Given the description of an element on the screen output the (x, y) to click on. 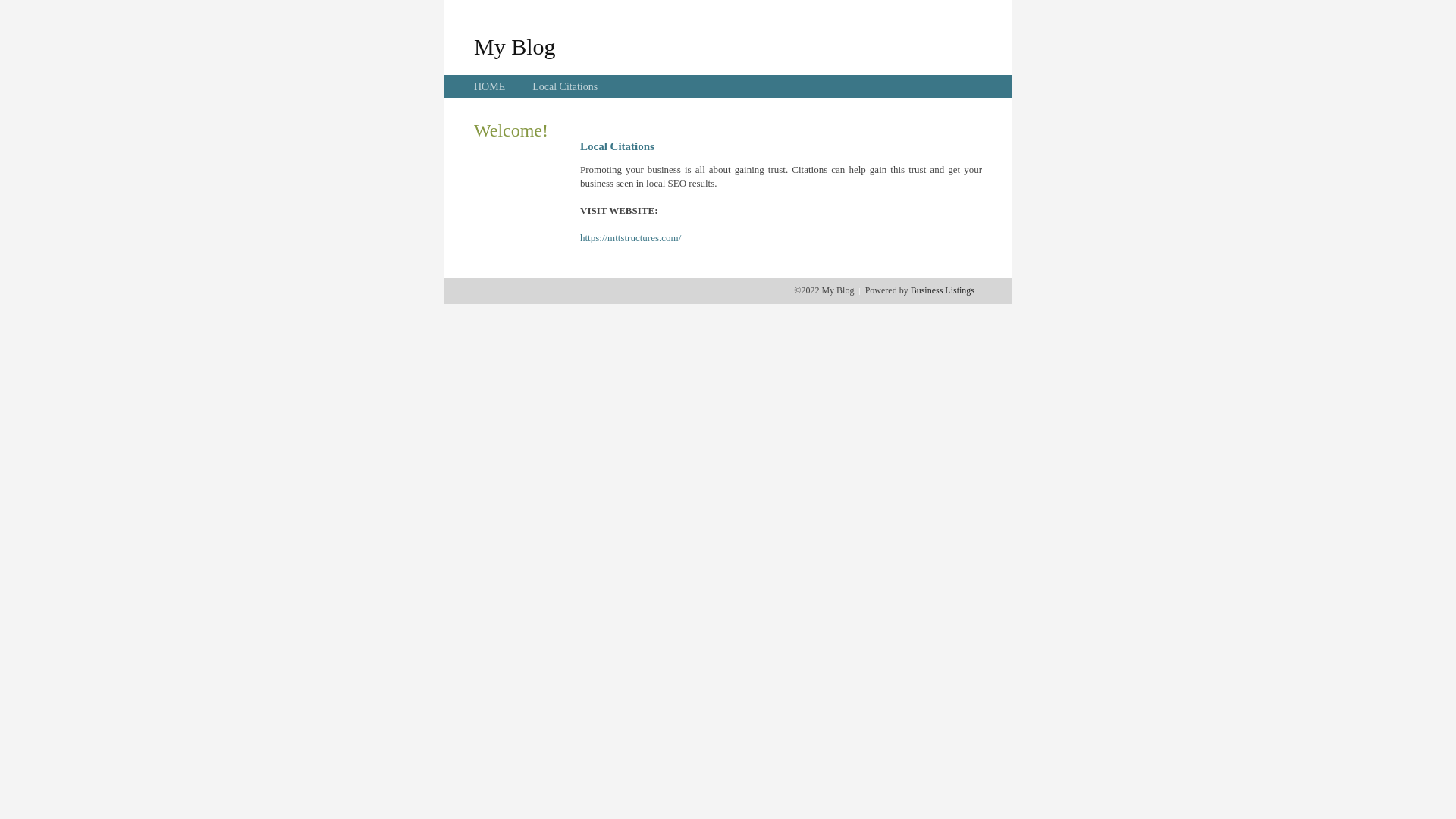
https://mttstructures.com/ Element type: text (630, 237)
HOME Element type: text (489, 86)
My Blog Element type: text (514, 46)
Local Citations Element type: text (564, 86)
Business Listings Element type: text (942, 290)
